Given the description of an element on the screen output the (x, y) to click on. 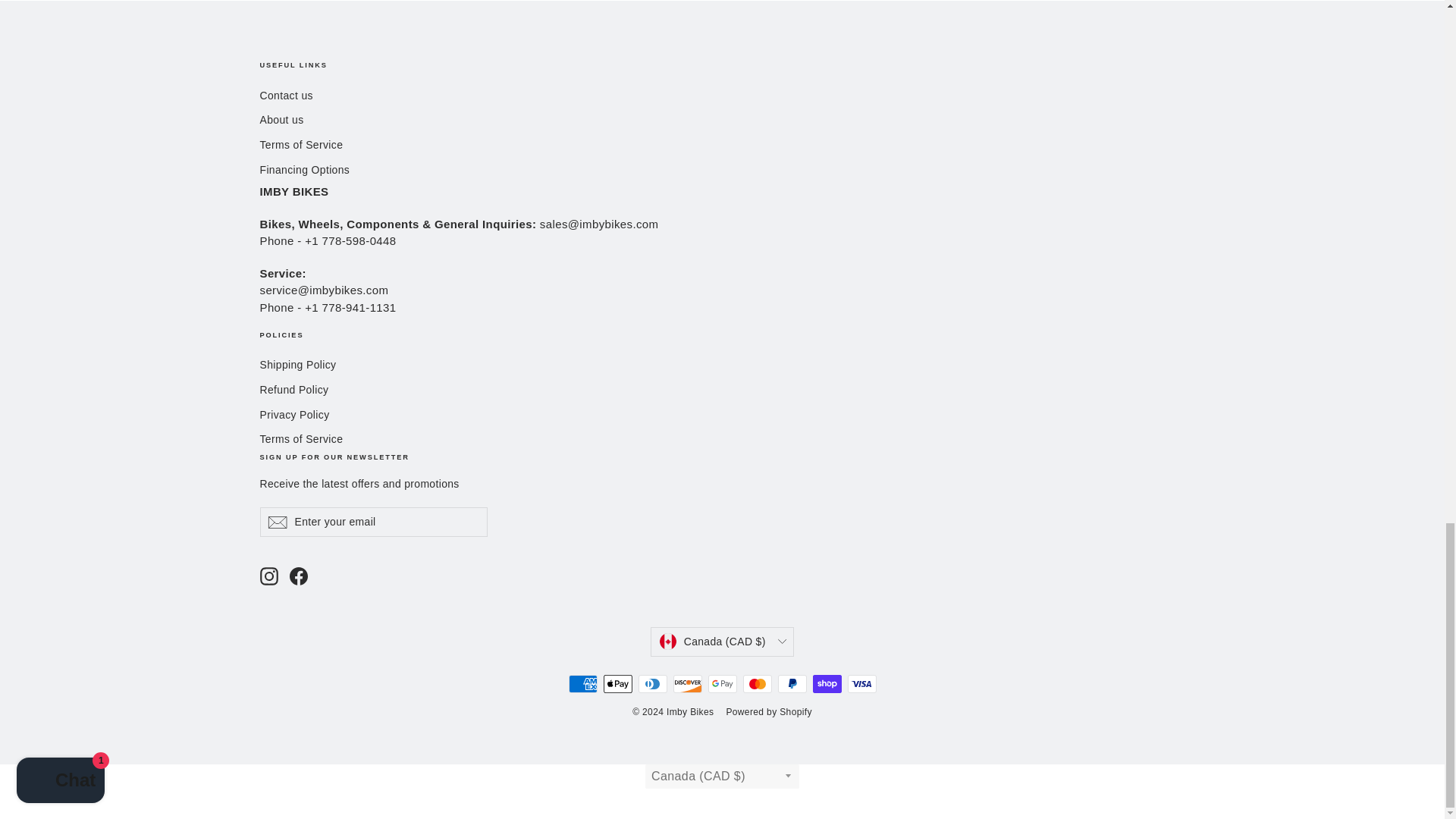
Google Pay (721, 683)
icon-email (276, 522)
instagram (268, 576)
PayPal (791, 683)
Imby Bikes on Instagram (268, 576)
Imby Bikes on Facebook (298, 576)
Shop Pay (826, 683)
American Express (582, 683)
Mastercard (756, 683)
Diners Club (652, 683)
Visa (861, 683)
Apple Pay (617, 683)
Discover (686, 683)
